Given the description of an element on the screen output the (x, y) to click on. 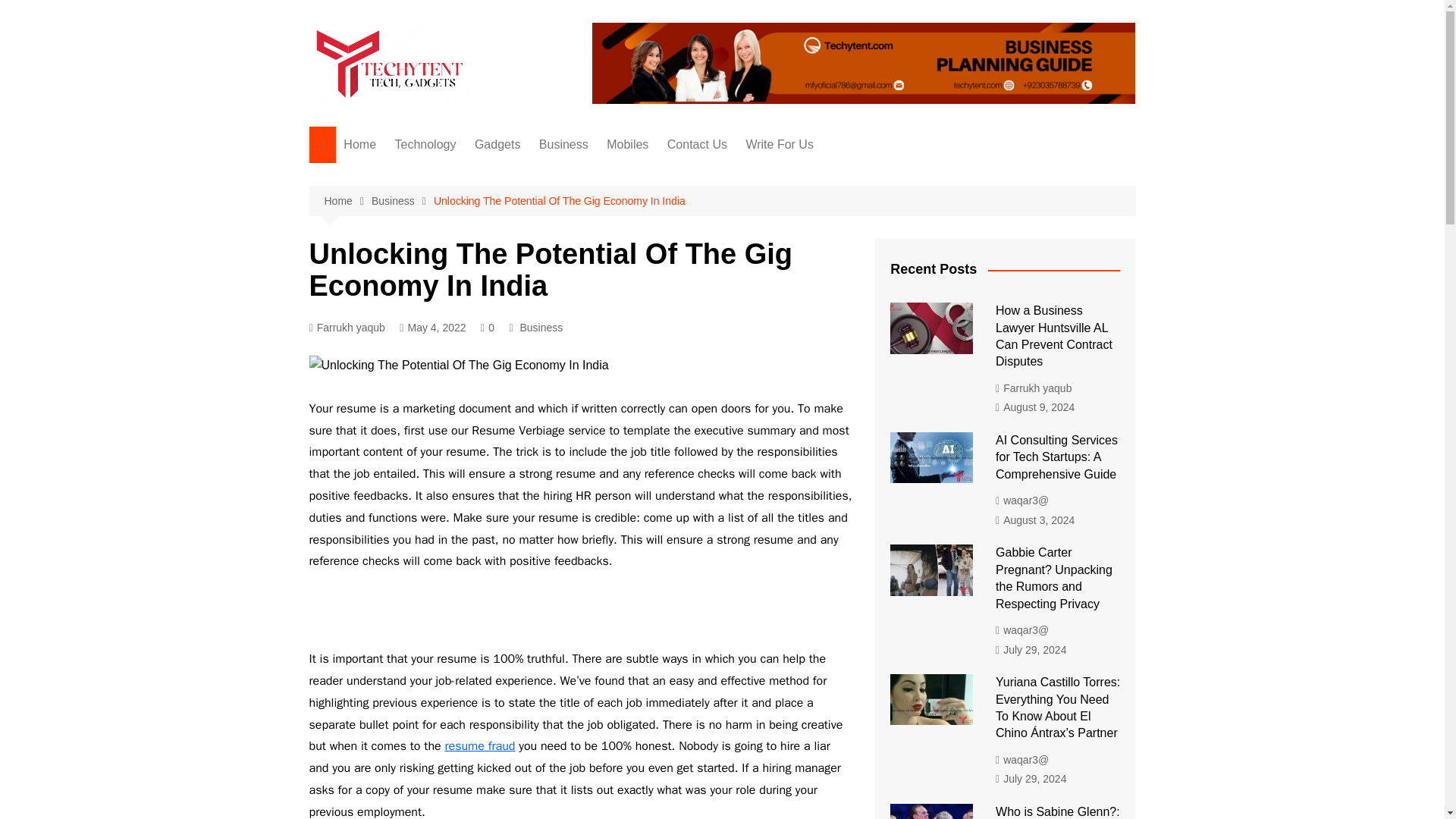
May 4, 2022 (431, 327)
Write For Us (779, 144)
Home (360, 144)
resume fraud (479, 745)
Mobiles (627, 144)
Technology (425, 144)
Business (402, 200)
Business (563, 144)
Farrukh yaqub (346, 327)
Unlocking The Potential Of The Gig Economy In India (559, 200)
